Given the description of an element on the screen output the (x, y) to click on. 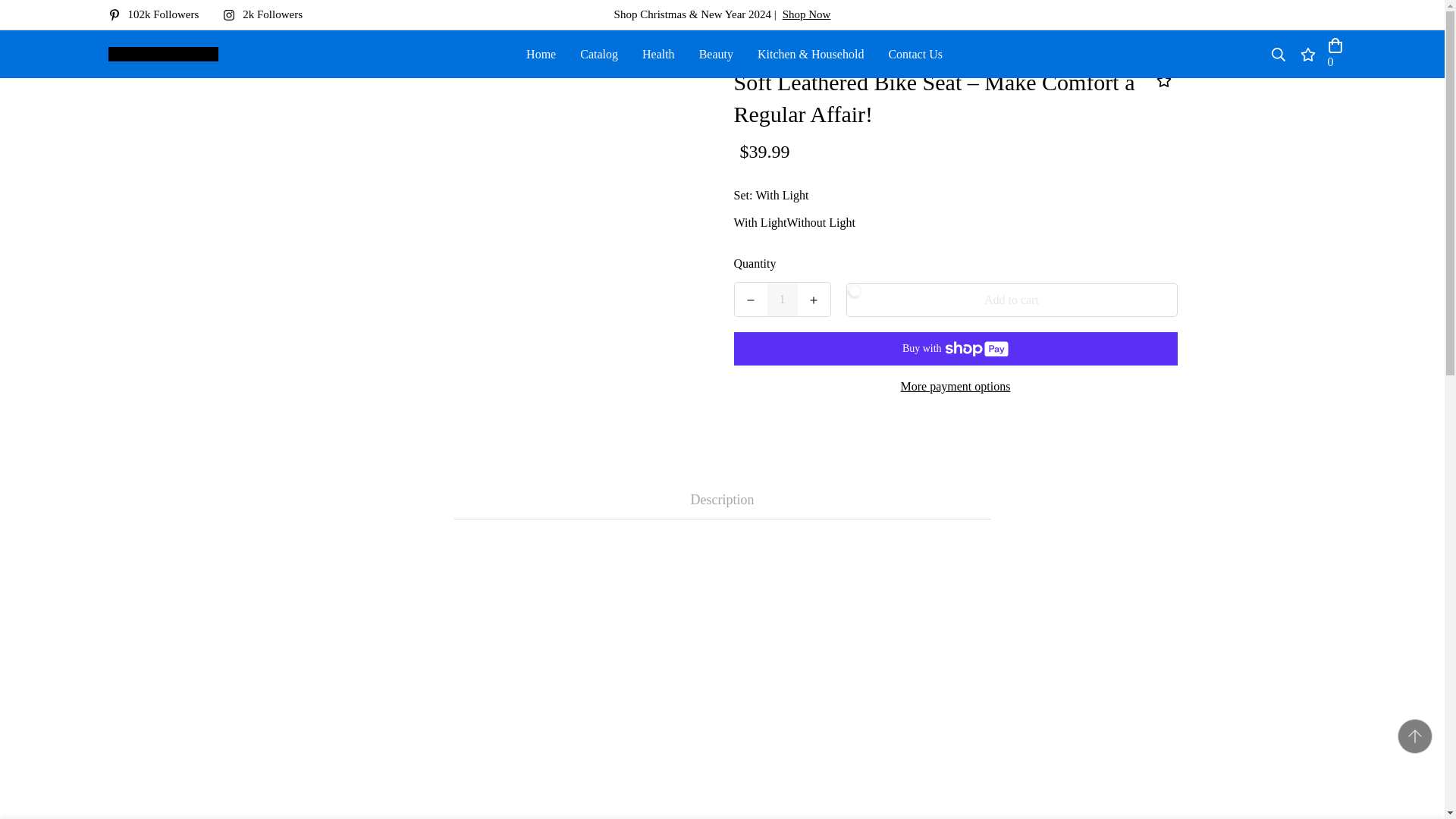
Home (540, 53)
Health (658, 53)
102k Followers (158, 14)
Catalog (598, 53)
Beauty (716, 53)
Shop Now (807, 14)
1 (782, 299)
2k Followers (268, 14)
Contact Us (915, 53)
